Given the description of an element on the screen output the (x, y) to click on. 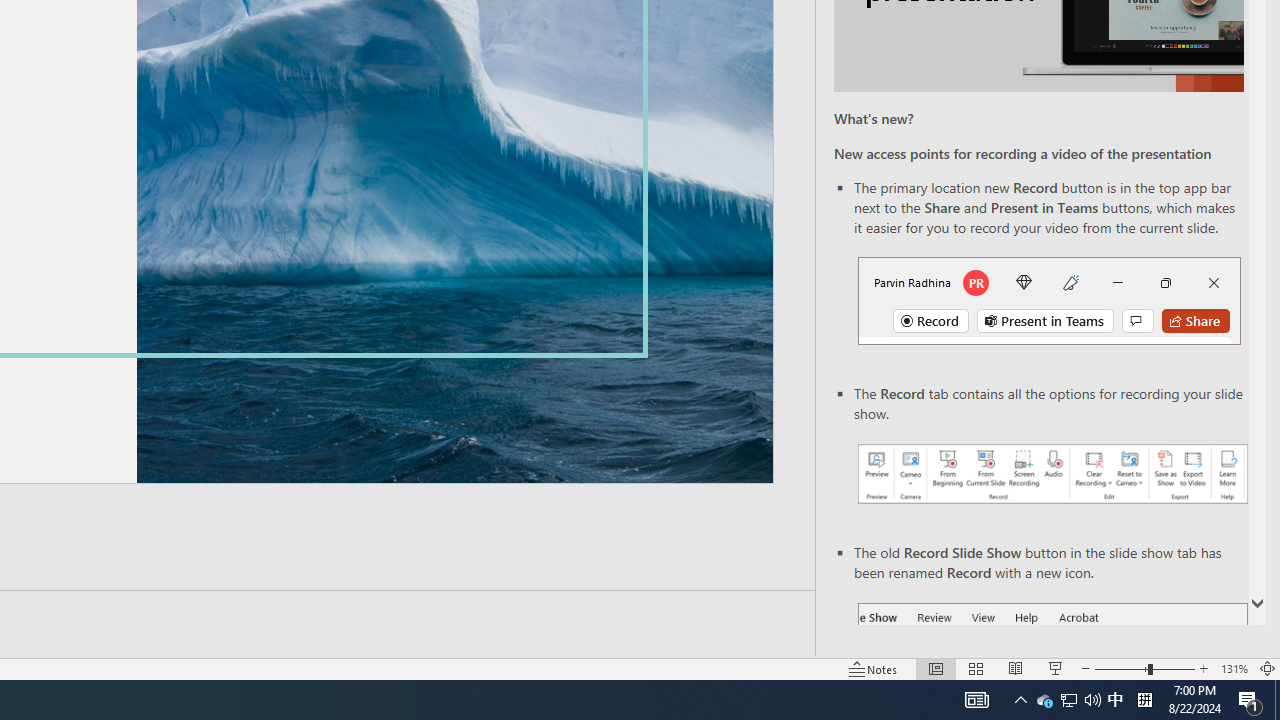
Record your presentations screenshot one (1052, 473)
Zoom 131% (1234, 668)
Record button in top bar (1049, 300)
